Given the description of an element on the screen output the (x, y) to click on. 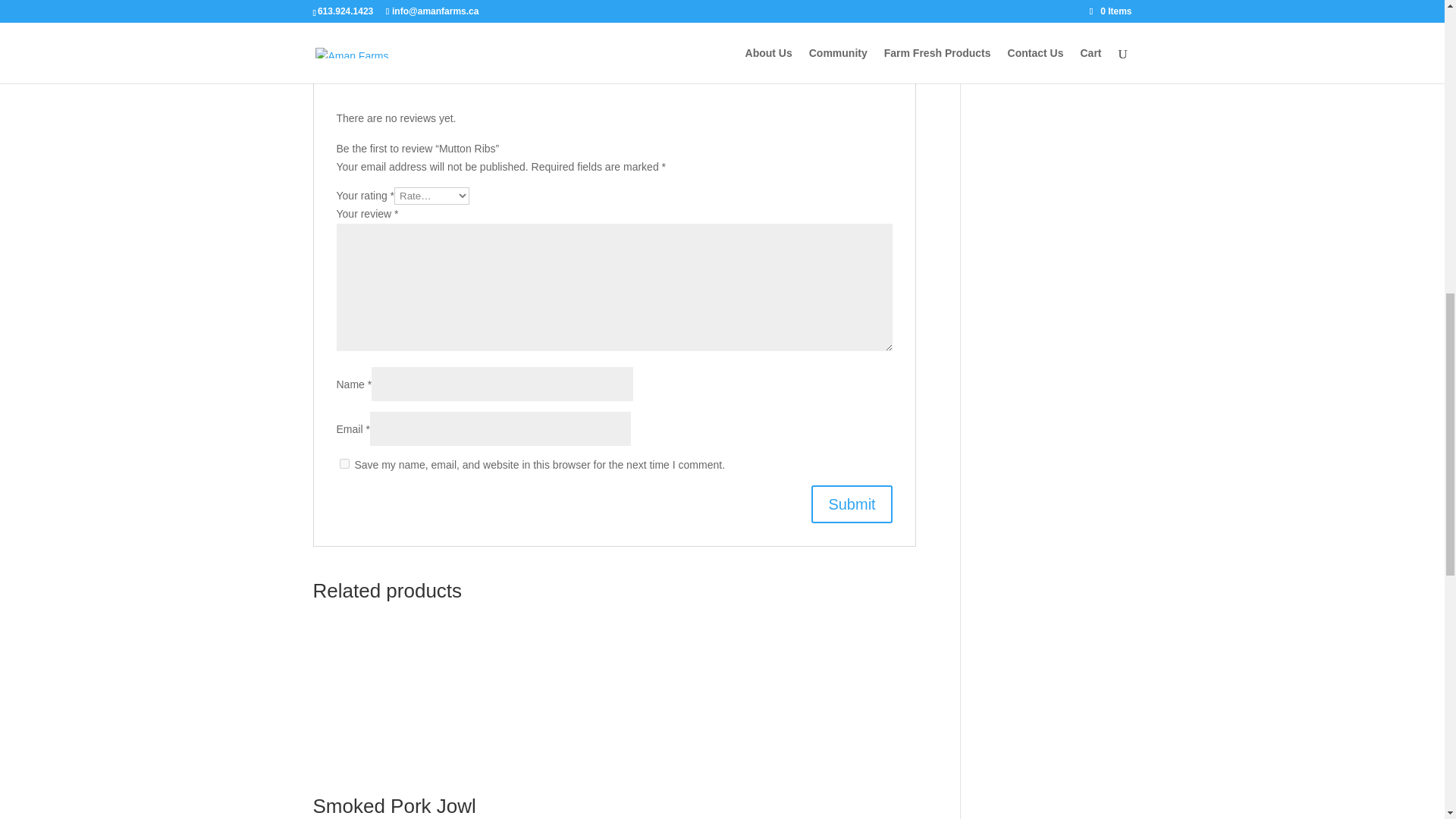
Submit (850, 504)
Submit (850, 504)
yes (344, 463)
